Given the description of an element on the screen output the (x, y) to click on. 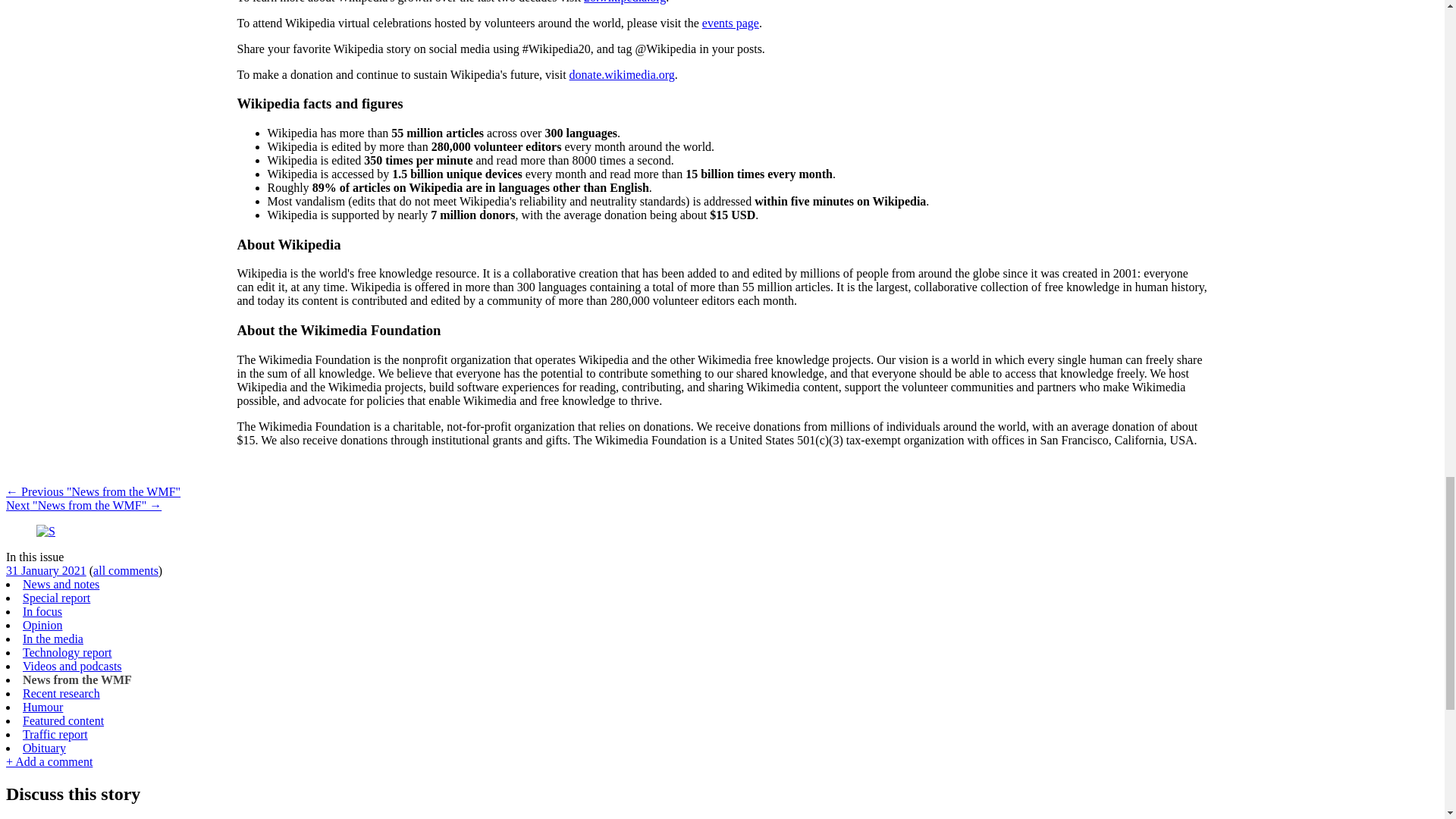
Wikipedia:Wikipedia Signpost (45, 530)
